Given the description of an element on the screen output the (x, y) to click on. 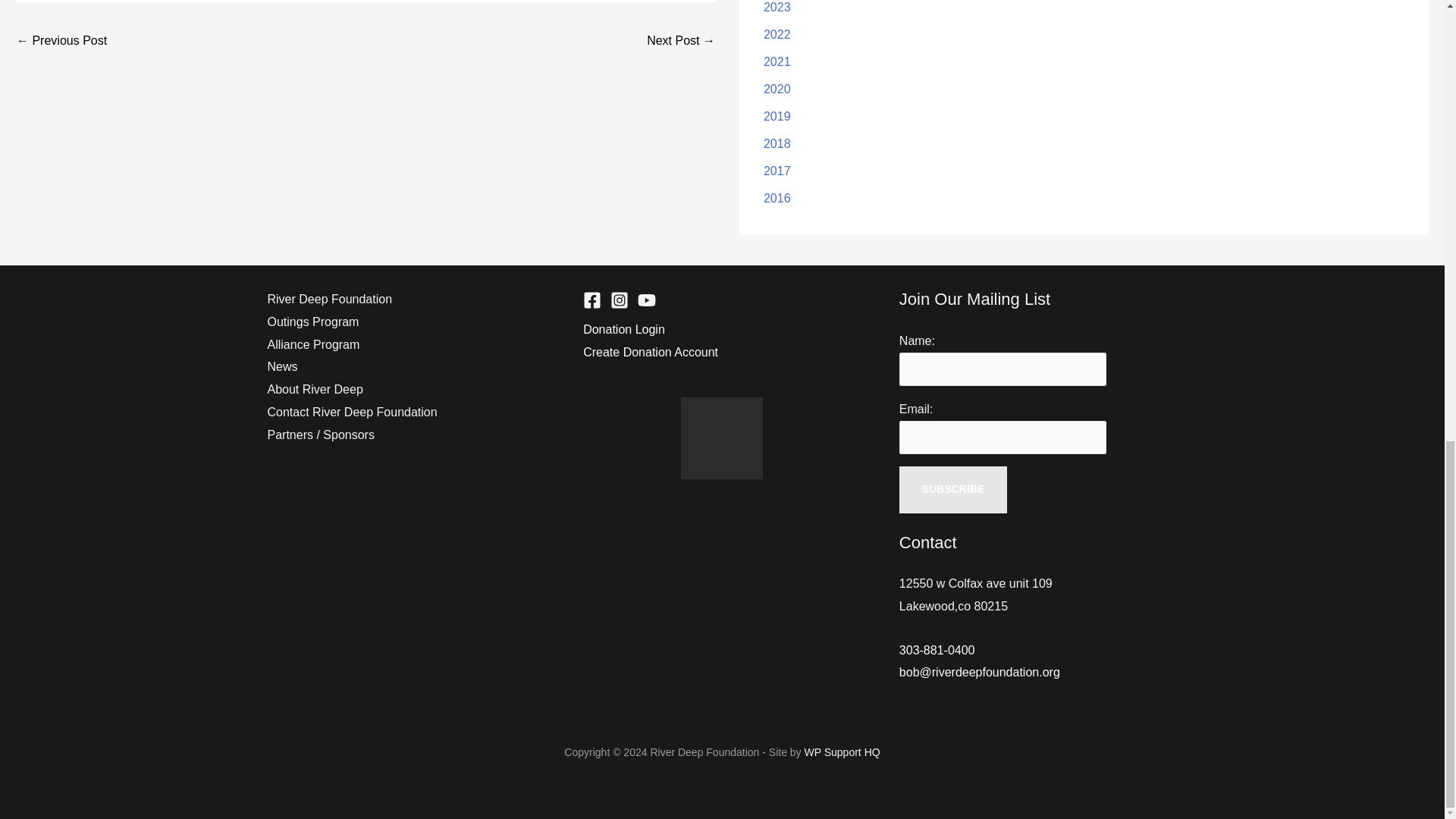
Subscribe (953, 489)
Anglers of Honor (61, 41)
Mask Making Art Class (680, 41)
